Given the description of an element on the screen output the (x, y) to click on. 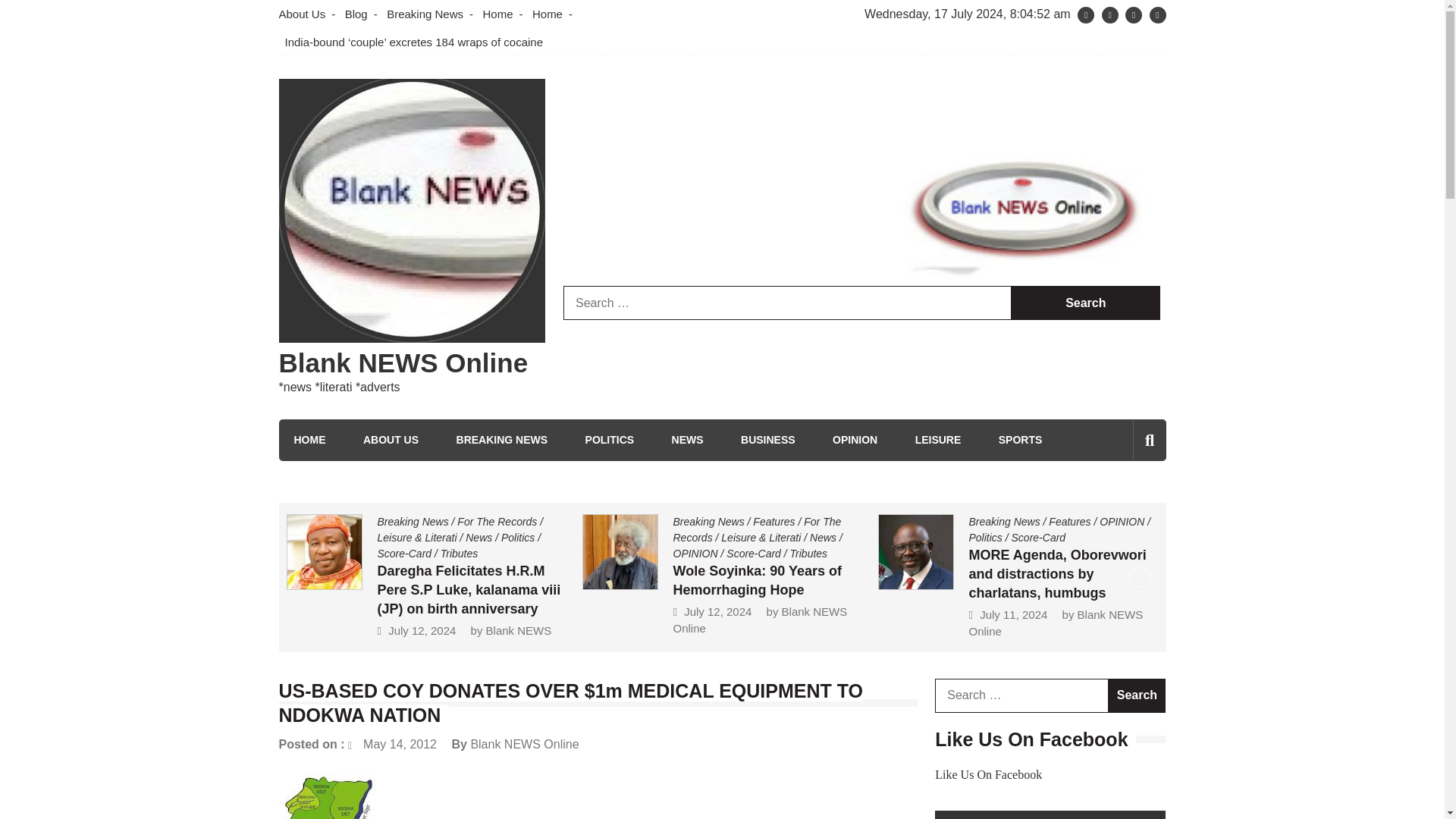
Blank NEWS Online (403, 363)
Posts by Blank NEWS Online (524, 744)
Search (1137, 695)
Breaking News (424, 13)
Blog (356, 13)
Home (547, 13)
ABOUT US (390, 440)
Search (1085, 302)
Search (1120, 504)
Search (1137, 695)
SPORTS (1020, 440)
Search (1085, 302)
Home (497, 13)
Search (1085, 302)
LEISURE (937, 440)
